Given the description of an element on the screen output the (x, y) to click on. 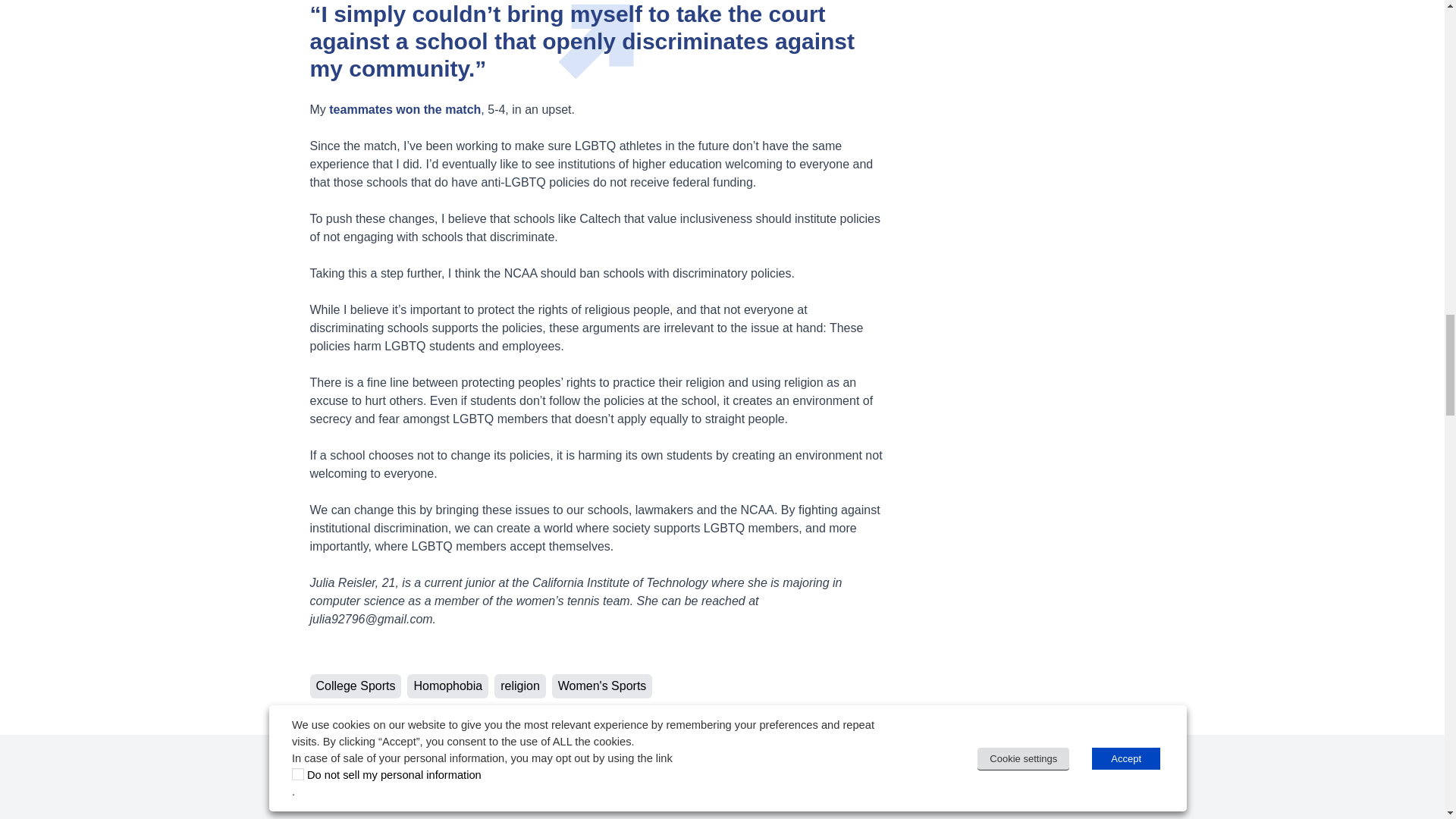
Homophobia (447, 686)
College Sports (354, 686)
teammates won the match (404, 109)
religion (520, 686)
Women's Sports (601, 686)
